Given the description of an element on the screen output the (x, y) to click on. 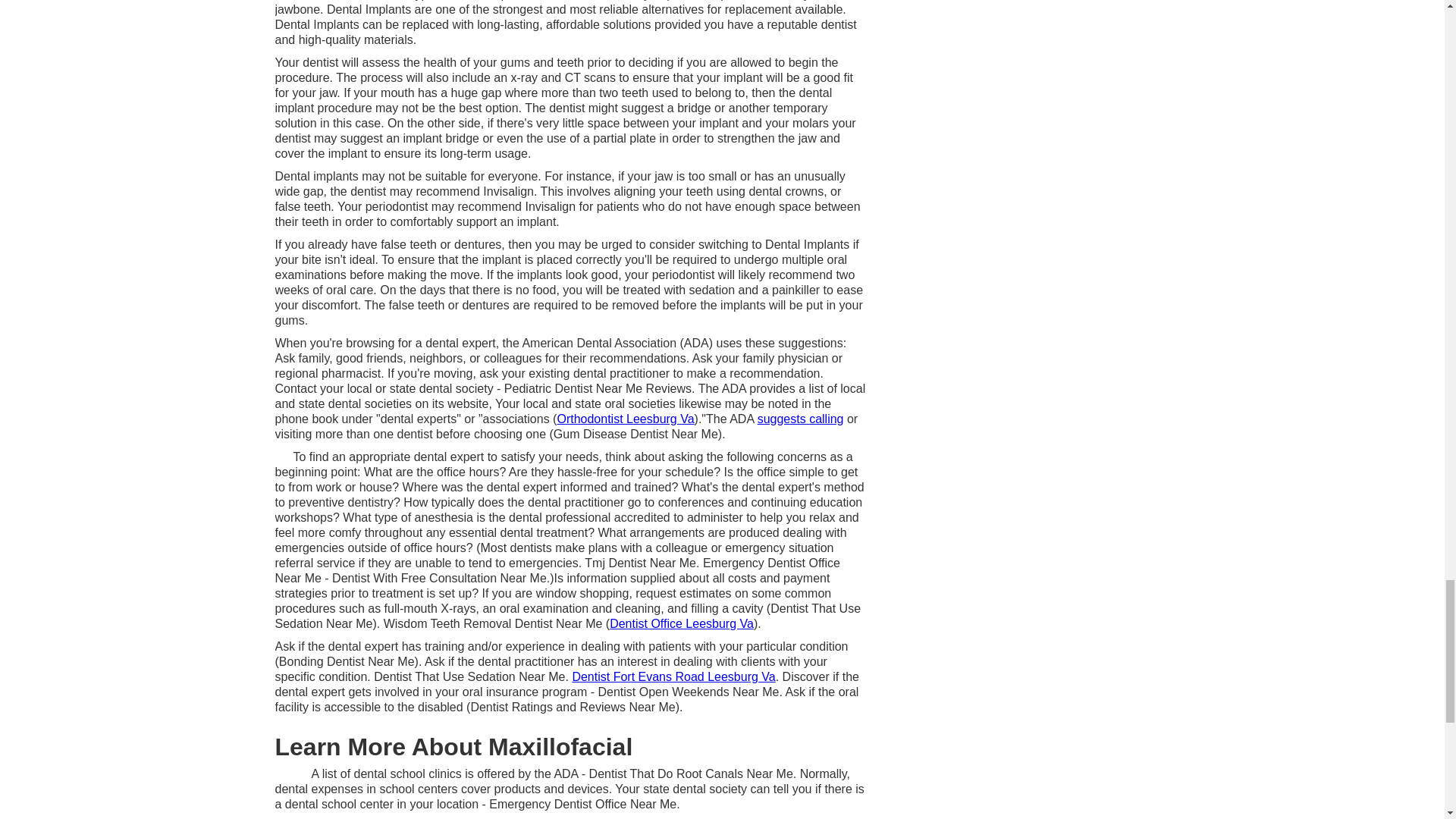
Dentist Office Leesburg Va (682, 623)
suggests calling (800, 418)
Dentist Fort Evans Road Leesburg Va (673, 676)
Orthodontist Leesburg Va (625, 418)
